Given the description of an element on the screen output the (x, y) to click on. 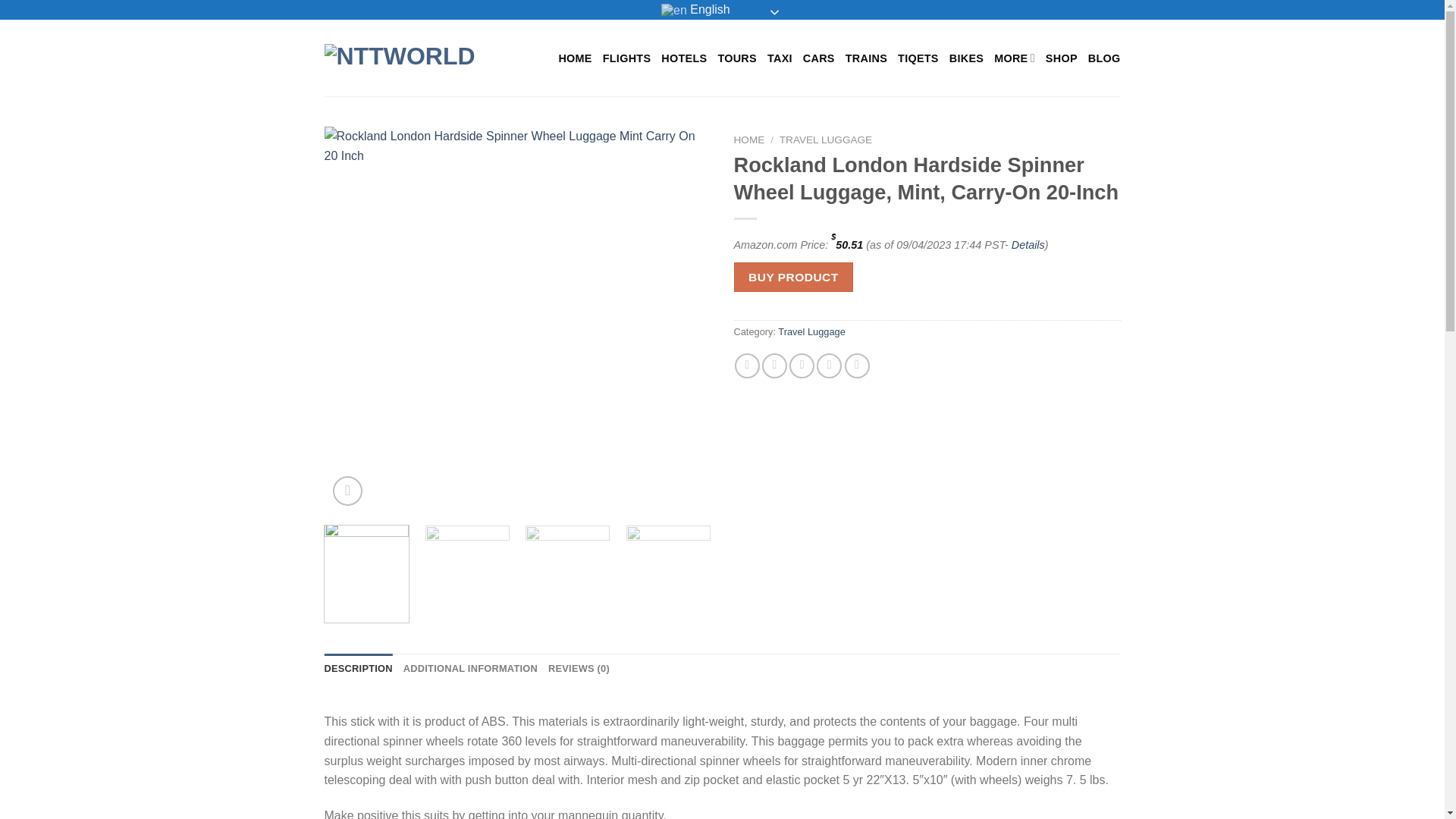
BLOG (1104, 58)
HOME (574, 58)
CARS (818, 58)
FLIGHTS (626, 58)
BIKES (966, 58)
TOURS (737, 58)
TAXI (779, 58)
TIQETS (918, 58)
MORE (1014, 57)
SHOP (1061, 58)
English (721, 9)
HOTELS (683, 58)
TRAINS (865, 58)
